Given the description of an element on the screen output the (x, y) to click on. 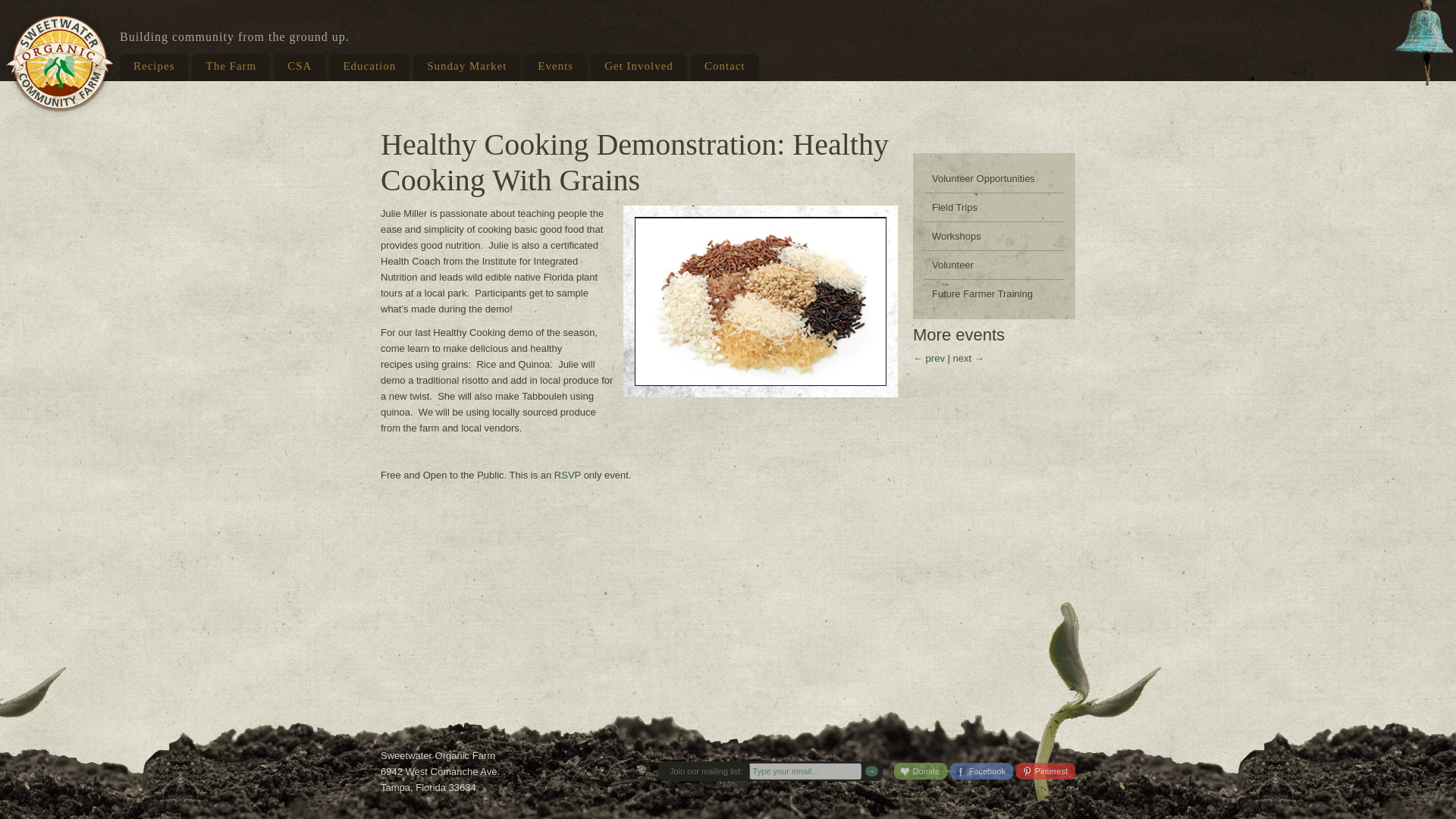
Volunteer Opportunities (994, 178)
Workshops (994, 235)
Education (369, 67)
Type your email... (805, 770)
Future Farmer Training (994, 293)
Sweetwater Organic Farm (59, 62)
RSVP (567, 474)
CSA (298, 67)
Donate (920, 770)
Pinterest (1045, 770)
Sunday Market (466, 67)
Volunteer (994, 264)
Contact (724, 67)
Field Trips (994, 207)
Facebook (981, 770)
